Given the description of an element on the screen output the (x, y) to click on. 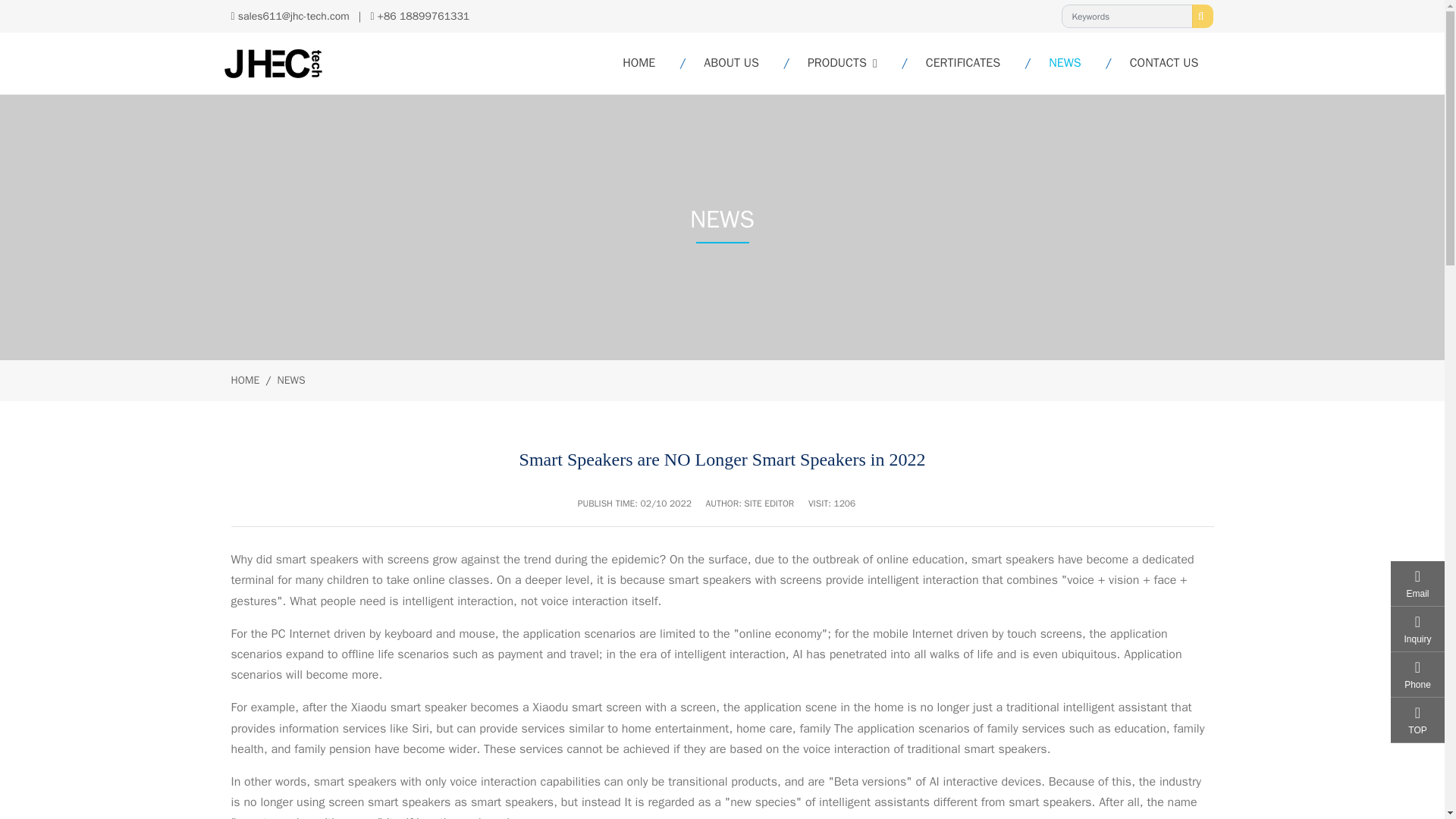
HOME (638, 63)
NEWS (291, 379)
PRODUCTS (842, 63)
CONTACT US (1164, 63)
ABOUT US (731, 63)
NEWS (1065, 63)
CERTIFICATES (963, 63)
HOME (910, 63)
